Given the description of an element on the screen output the (x, y) to click on. 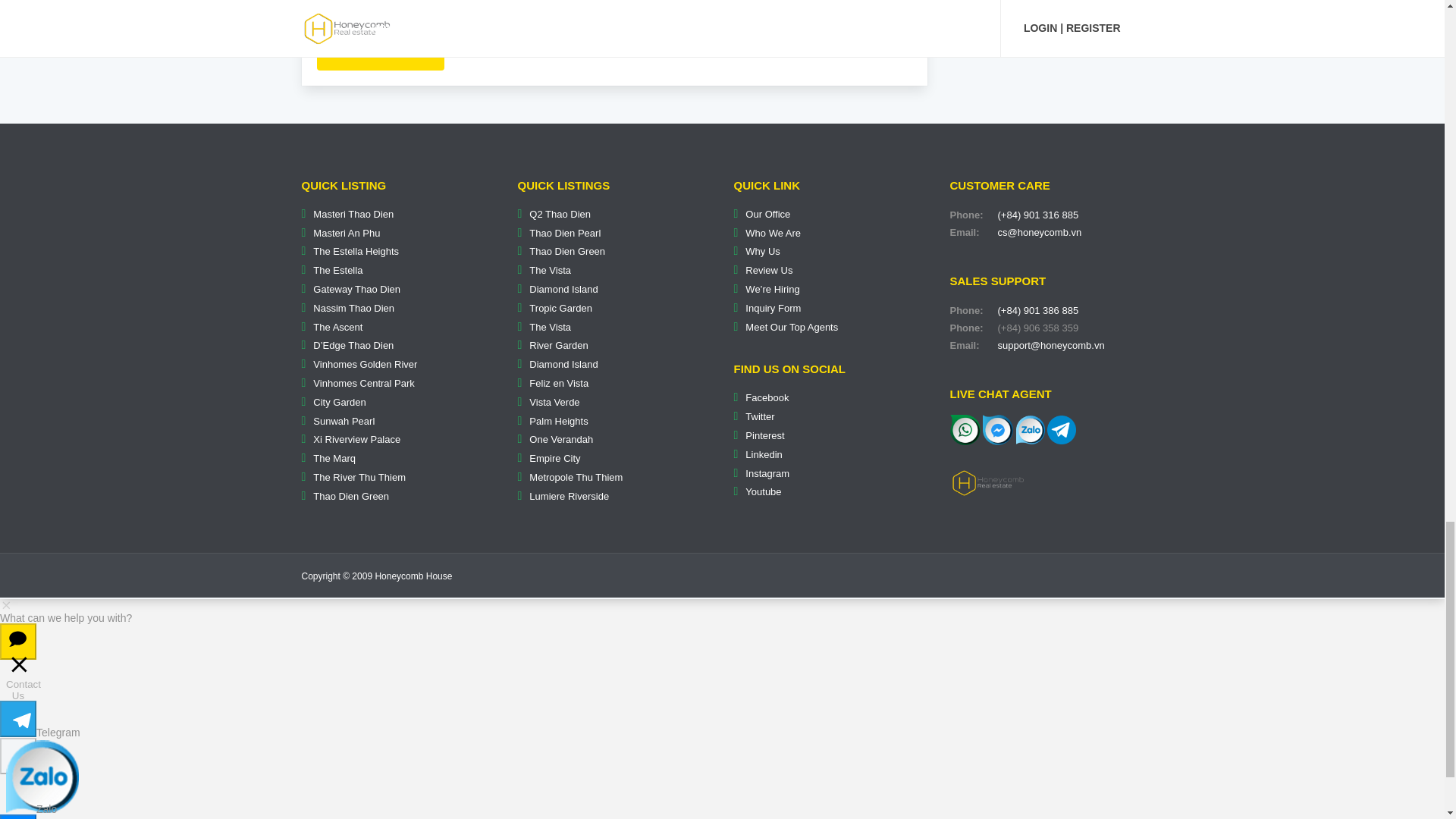
Zalo (1030, 429)
WhatsApp (964, 429)
Send Message (381, 53)
Telegram (1060, 429)
WhatsApp (964, 428)
Messenger (997, 429)
Send Message (381, 53)
Telegram (1060, 428)
Zalo (1030, 428)
Messenger (997, 428)
